Given the description of an element on the screen output the (x, y) to click on. 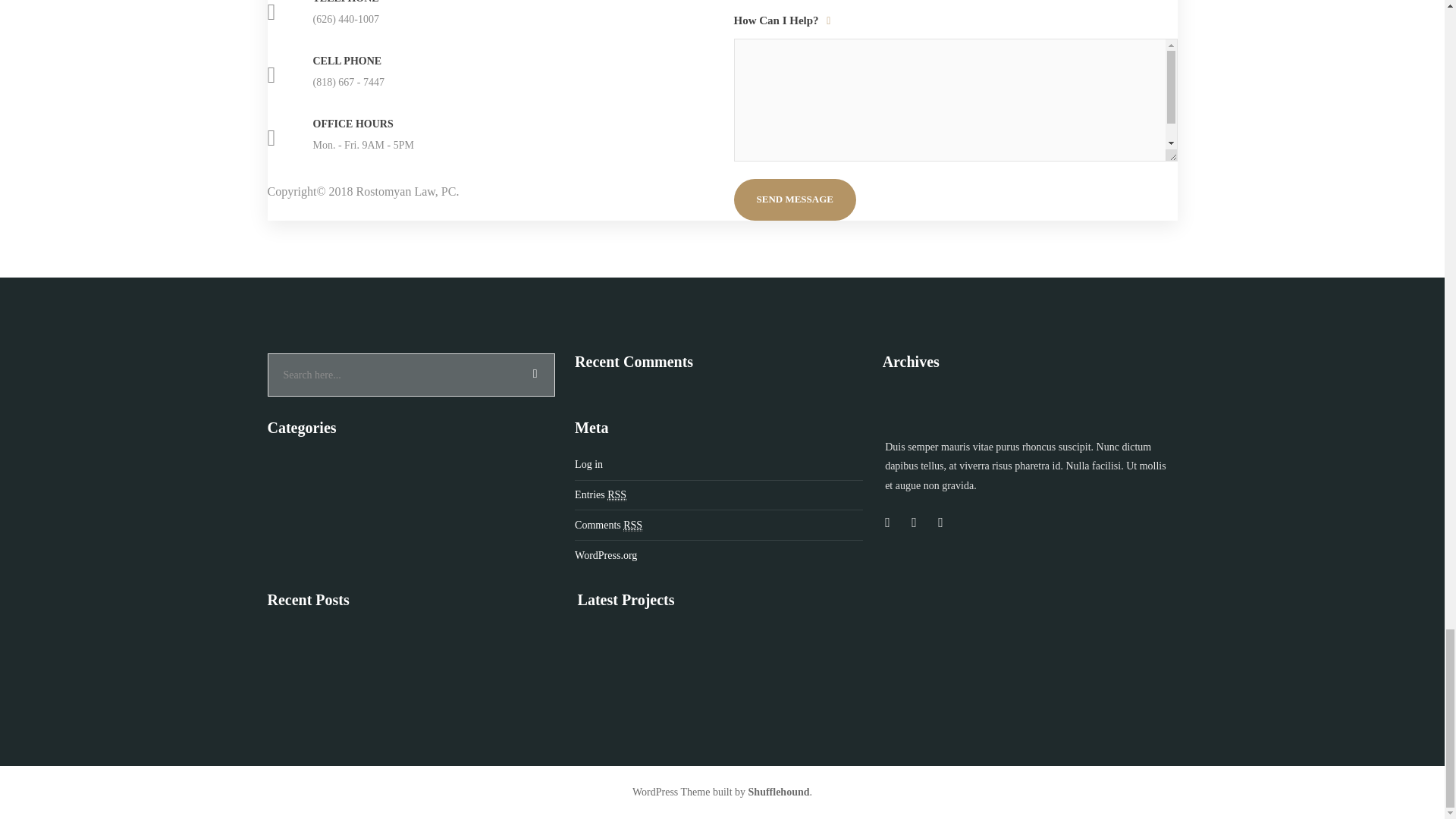
Shufflehound. (780, 791)
Really Simple Syndication (616, 494)
Search text (410, 374)
WordPress.org (719, 556)
Really Simple Syndication (632, 525)
SEND MESSAGE (795, 199)
Entries RSS (719, 495)
Log in (719, 464)
Shirvanyan v. Los Angeles Community College (610, 660)
Comments RSS (719, 525)
